Given the description of an element on the screen output the (x, y) to click on. 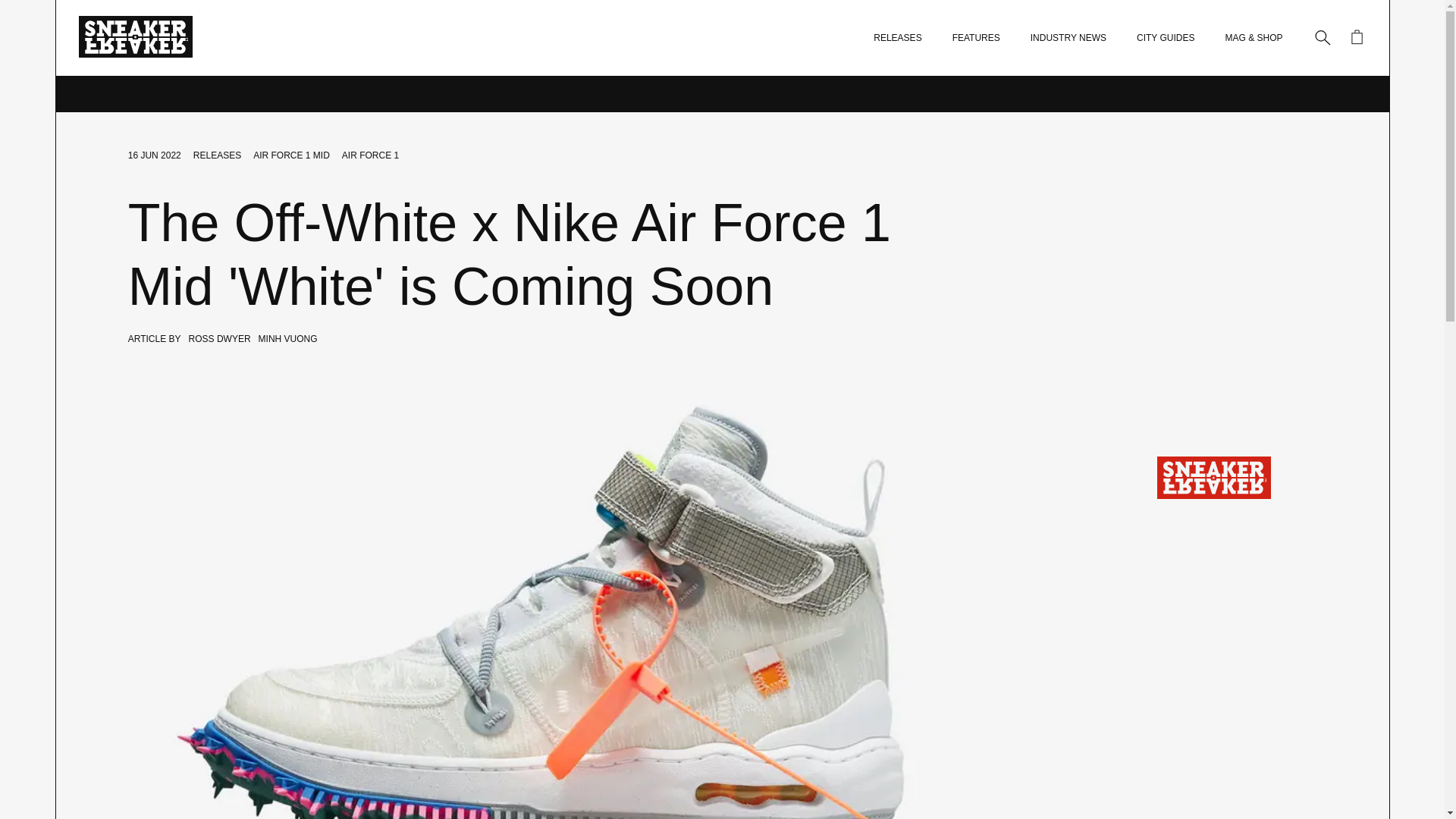
AIR FORCE 1 MID (291, 154)
RELEASES (217, 154)
FEATURES (976, 37)
RELEASES (897, 37)
MINH VUONG (288, 338)
CITY GUIDES (1165, 37)
AIR FORCE 1 (370, 154)
INDUSTRY NEWS (1068, 37)
